Given the description of an element on the screen output the (x, y) to click on. 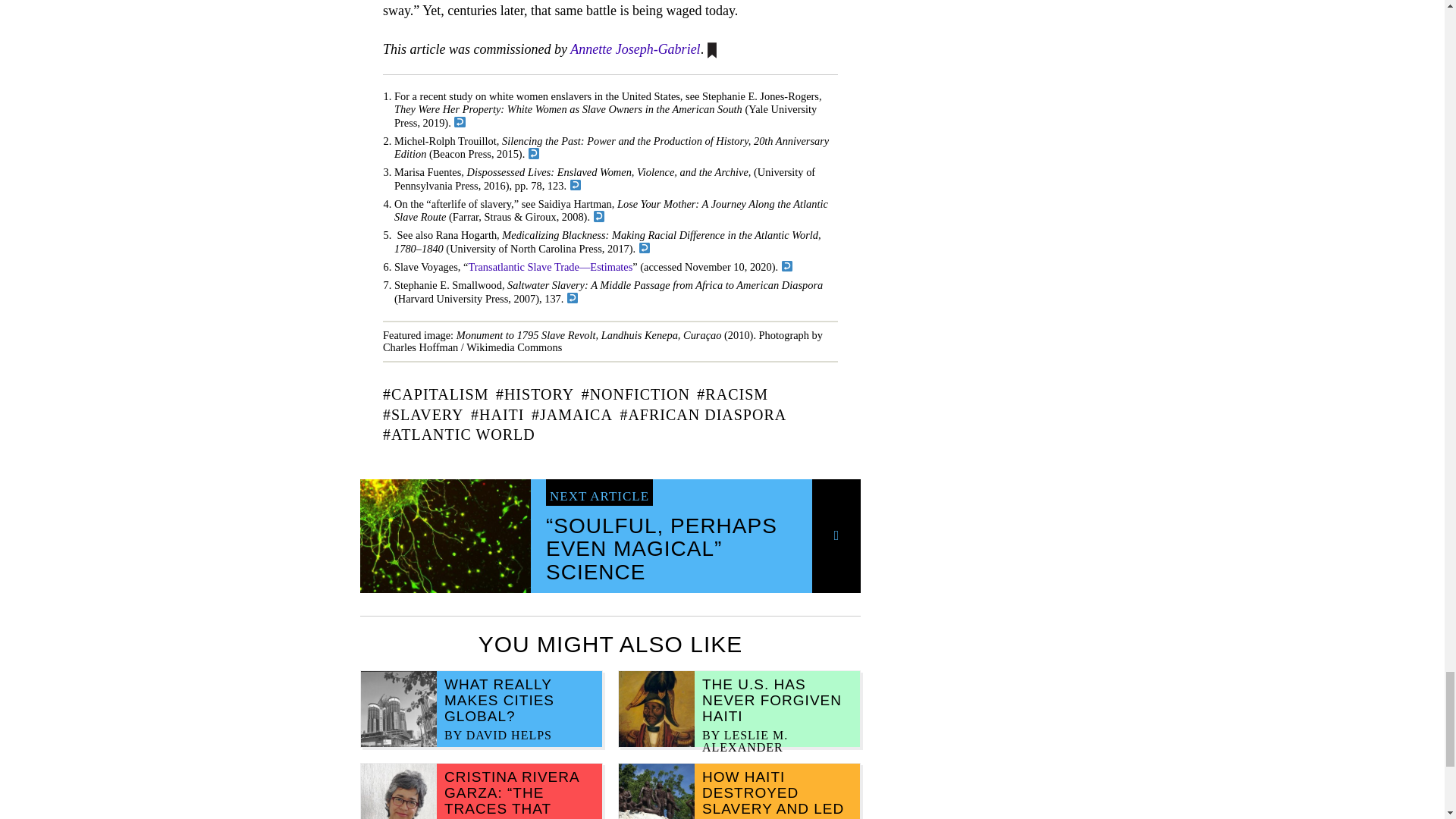
What Really Makes Cities Global? (499, 700)
The U.S. Has Never Forgiven Haiti (771, 700)
